Given the description of an element on the screen output the (x, y) to click on. 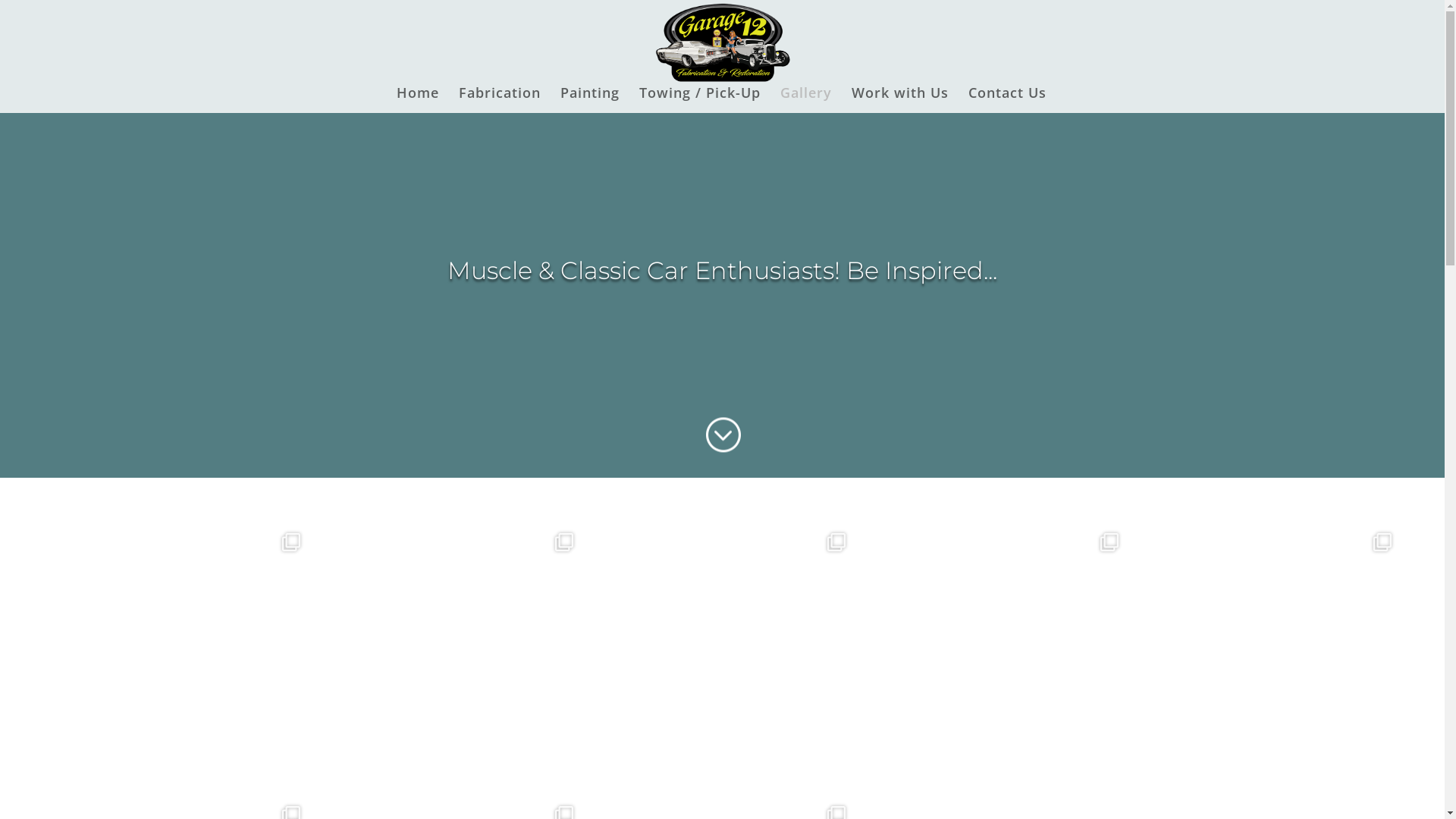
Painting Element type: text (589, 99)
Work with Us Element type: text (899, 99)
Gallery Element type: text (805, 99)
; Element type: text (721, 442)
Towing / Pick-Up Element type: text (699, 99)
Fabrication Element type: text (499, 99)
Contact Us Element type: text (1007, 99)
Home Element type: text (417, 99)
